Given the description of an element on the screen output the (x, y) to click on. 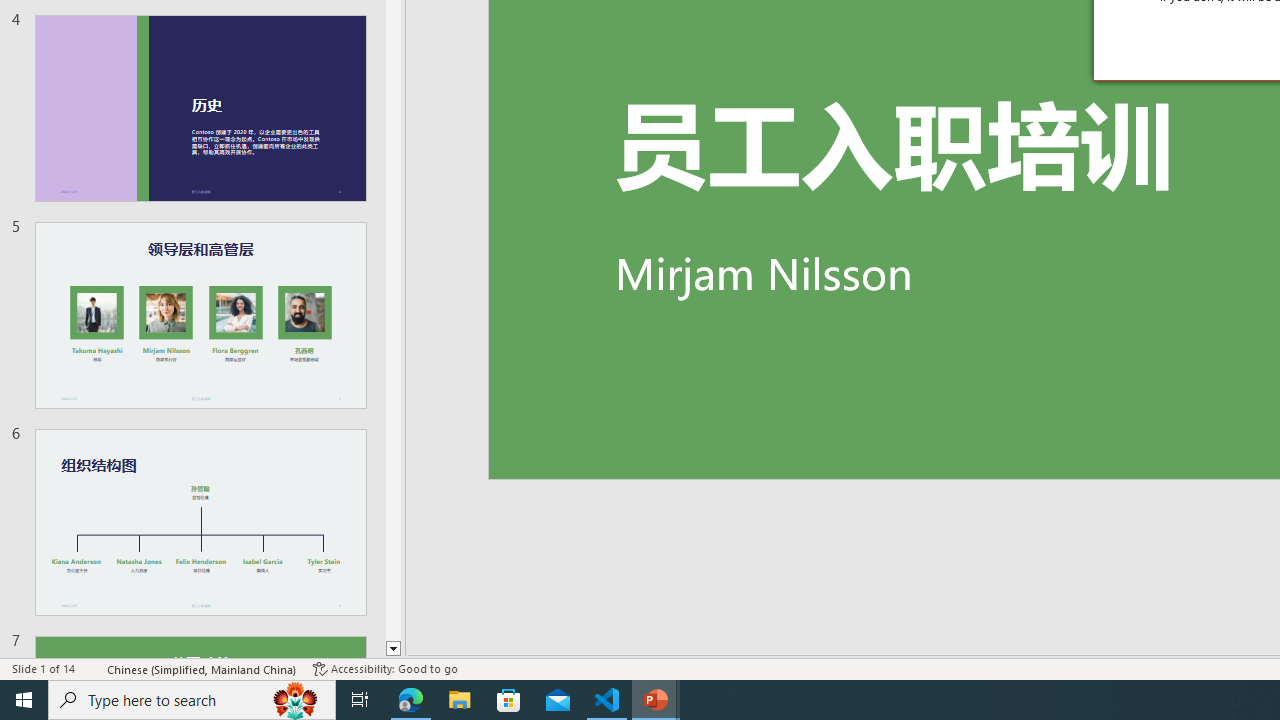
Spell Check  (92, 668)
PowerPoint - 2 running windows (656, 699)
